Given the description of an element on the screen output the (x, y) to click on. 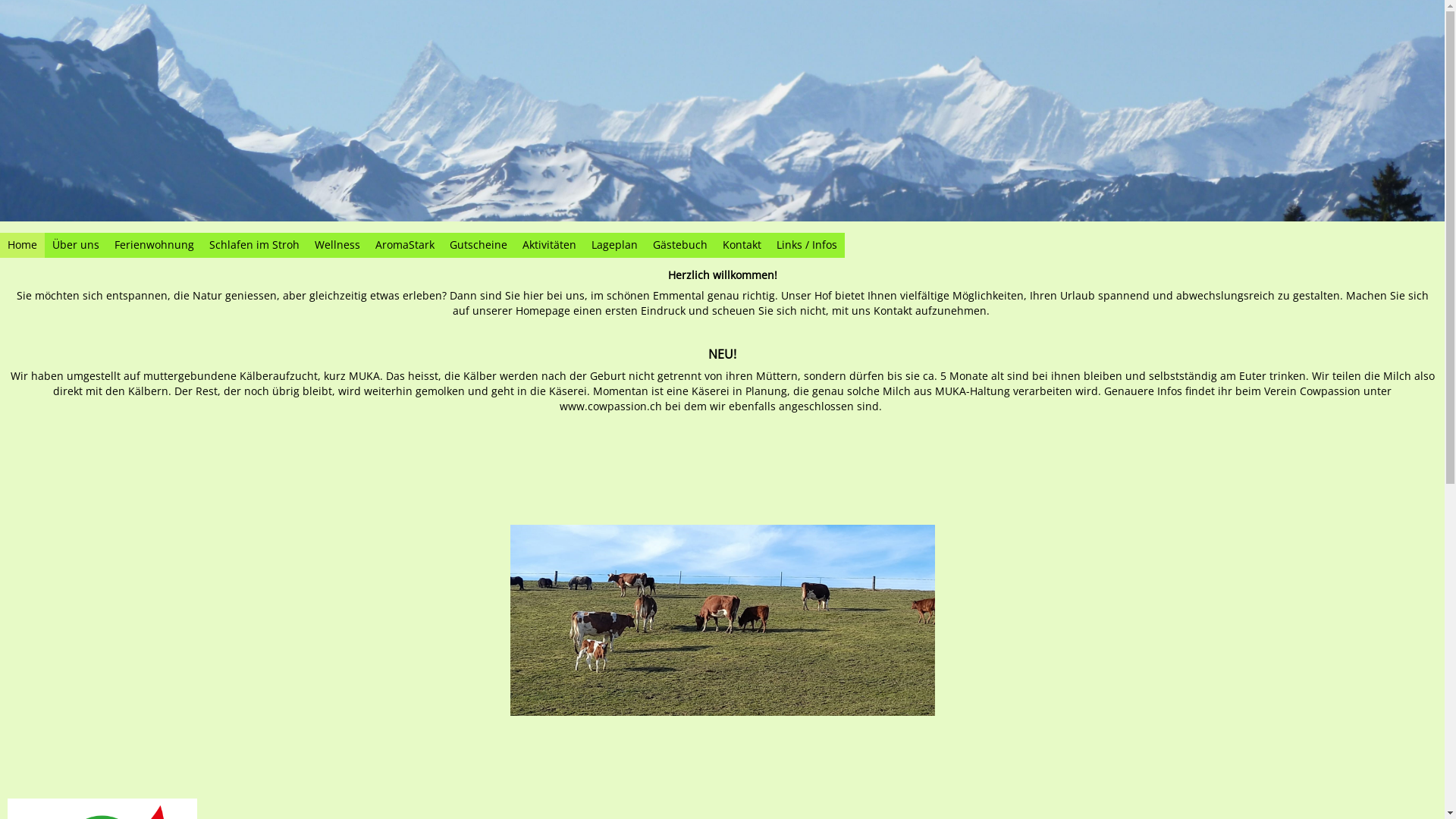
Kontakt Element type: text (741, 244)
Lageplan Element type: text (614, 244)
Gutscheine Element type: text (478, 244)
AromaStark Element type: text (404, 244)
Home Element type: text (22, 244)
Wellness Element type: text (337, 244)
Ferienwohnung Element type: text (153, 244)
Schlafen im Stroh Element type: text (254, 244)
Links / Infos Element type: text (806, 244)
